Given the description of an element on the screen output the (x, y) to click on. 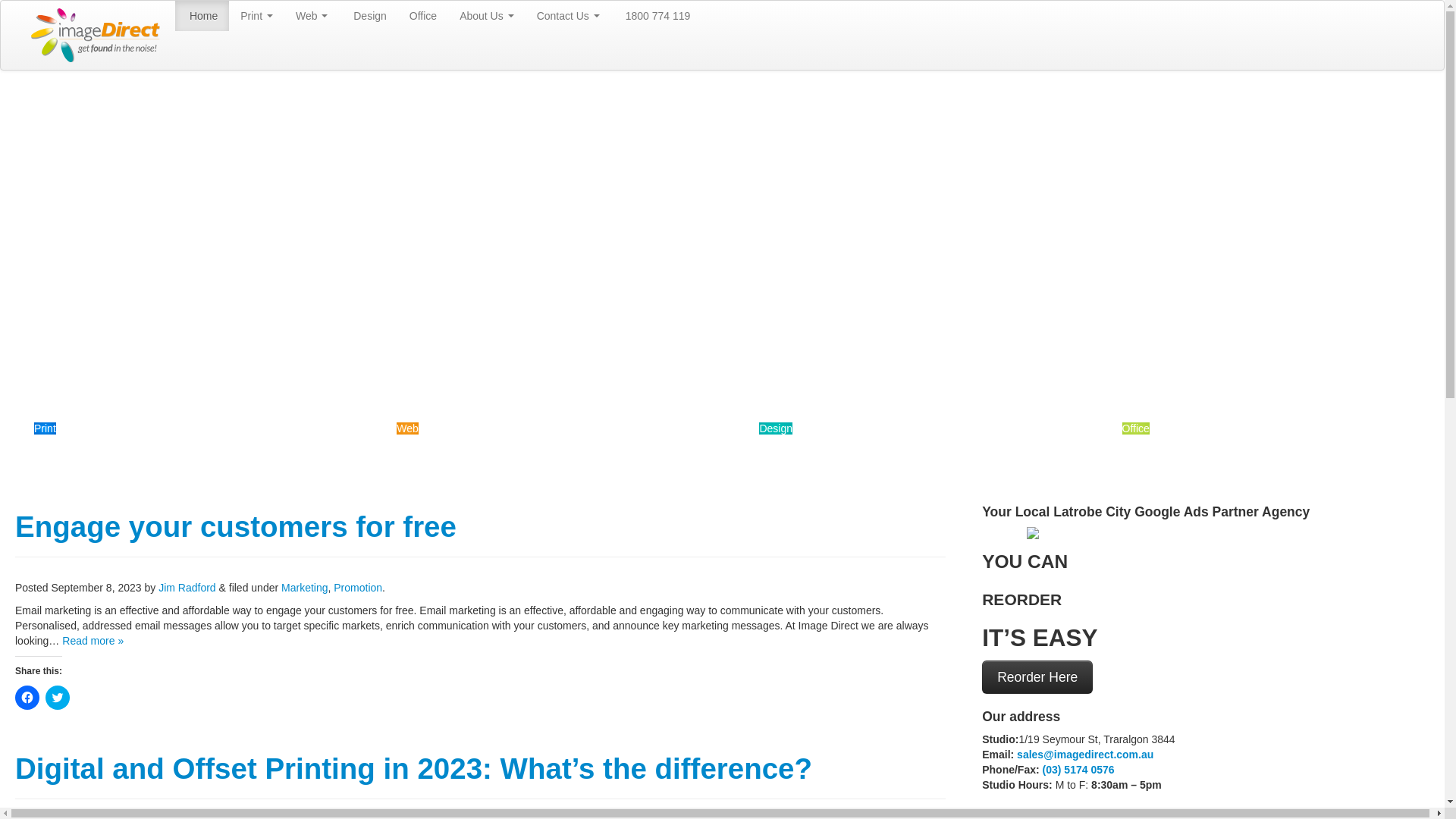
Design Element type: text (775, 428)
 1800 774 119 Element type: text (656, 15)
 Design Element type: text (367, 15)
Contact Us Element type: text (568, 15)
sales@imagedirect.com.au Element type: text (1084, 754)
Marketing Element type: text (304, 587)
Promotion Element type: text (357, 587)
Engage your customers for free Element type: text (235, 526)
Web Element type: text (407, 428)
 Home Element type: text (202, 15)
Reorder Here Element type: text (1037, 676)
Click to share on Facebook (Opens in new window) Element type: text (27, 697)
Click to share on Twitter (Opens in new window) Element type: text (57, 697)
(03) 5174 0576 Element type: text (1078, 769)
Print Element type: text (256, 15)
Jim Radford Element type: text (186, 587)
About Us Element type: text (486, 15)
Office Element type: text (423, 15)
Web Element type: text (311, 15)
Office Element type: text (1135, 428)
Print Element type: text (45, 428)
